Given the description of an element on the screen output the (x, y) to click on. 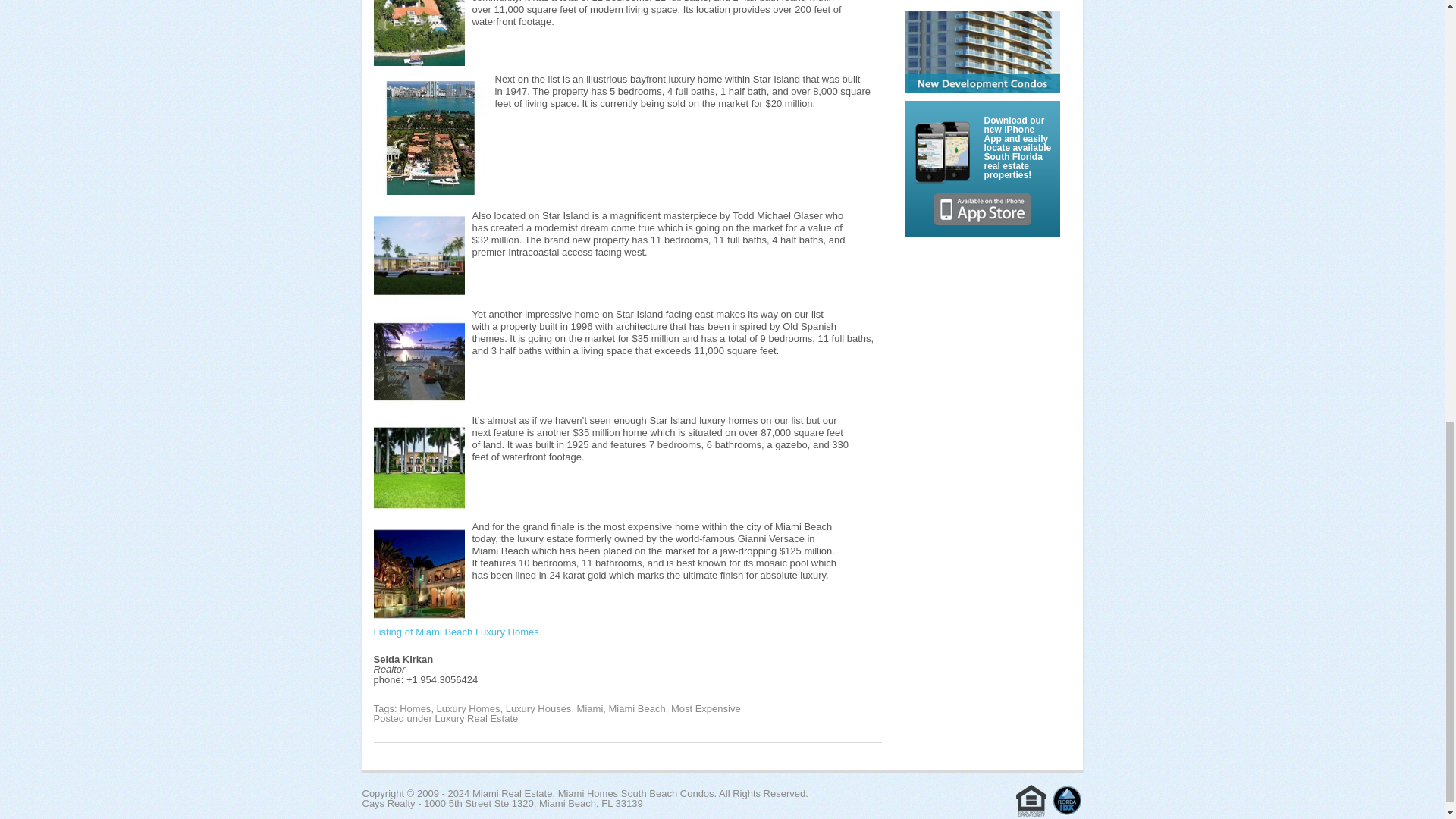
Luxury Real Estate (475, 717)
Luxury Homes (468, 708)
Luxury Houses (538, 708)
Fair Housing and Equal Opportunity (1031, 800)
Most Expensive (706, 708)
Star Island Home (418, 467)
Miami Beach (636, 708)
Listing of Miami Beach Luxury Homes (455, 632)
Star Island Home (429, 137)
5StarIsland (418, 361)
Miami (590, 708)
Homes (414, 708)
Miami Beach Versace (418, 573)
Star Island Home (418, 33)
Star Island Home (418, 255)
